Given the description of an element on the screen output the (x, y) to click on. 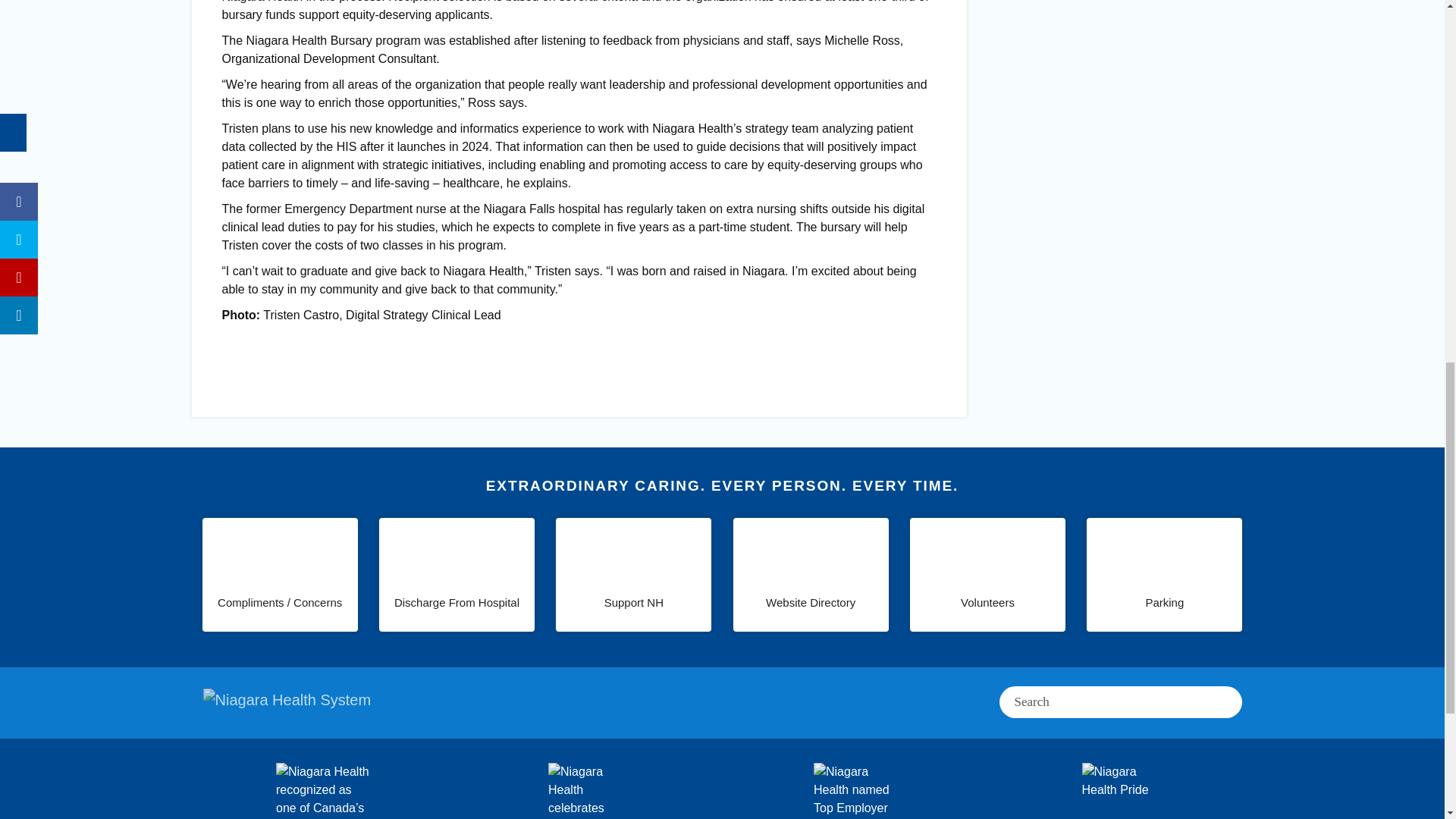
Search (1095, 702)
